Given the description of an element on the screen output the (x, y) to click on. 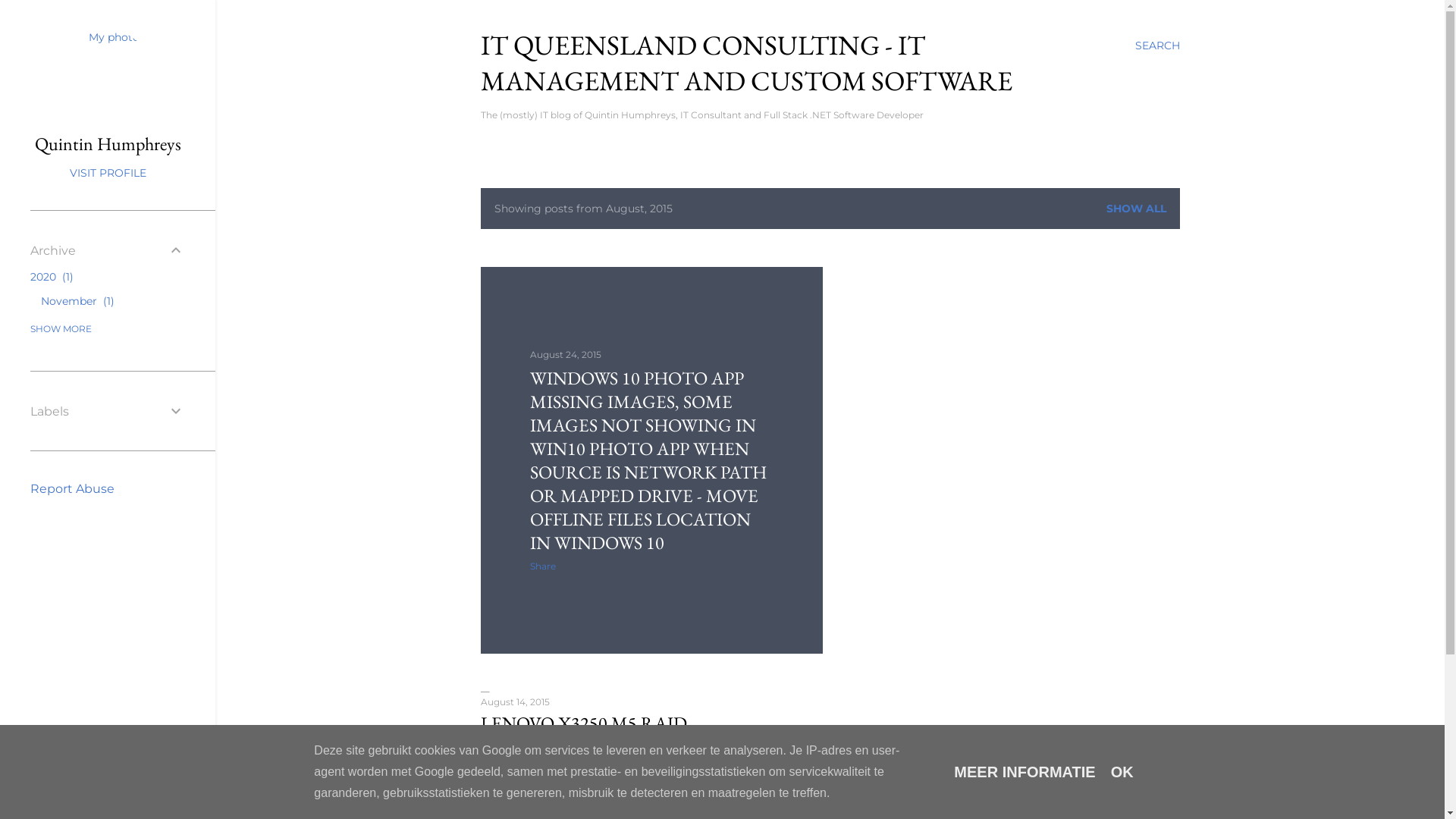
SEARCH Element type: text (1156, 45)
Share Element type: text (493, 793)
November 1 Element type: text (77, 300)
LENOVO X3250 M5 RAID CONFIGURATION - CAN'T FIND STORAGE MENU Element type: text (615, 746)
SHOW ALL Element type: text (1135, 208)
IT QUEENSLAND CONSULTING - IT MANAGEMENT AND CUSTOM SOFTWARE Element type: text (746, 62)
Report Abuse Element type: text (72, 488)
Share Element type: text (542, 565)
MEER INFORMATIE Element type: text (1024, 771)
August 24, 2015 Element type: text (564, 354)
OK Element type: text (1122, 771)
August 14, 2015 Element type: text (514, 701)
VISIT PROFILE Element type: text (107, 172)
Quintin Humphreys Element type: text (107, 143)
2020 1 Element type: text (51, 276)
